Given the description of an element on the screen output the (x, y) to click on. 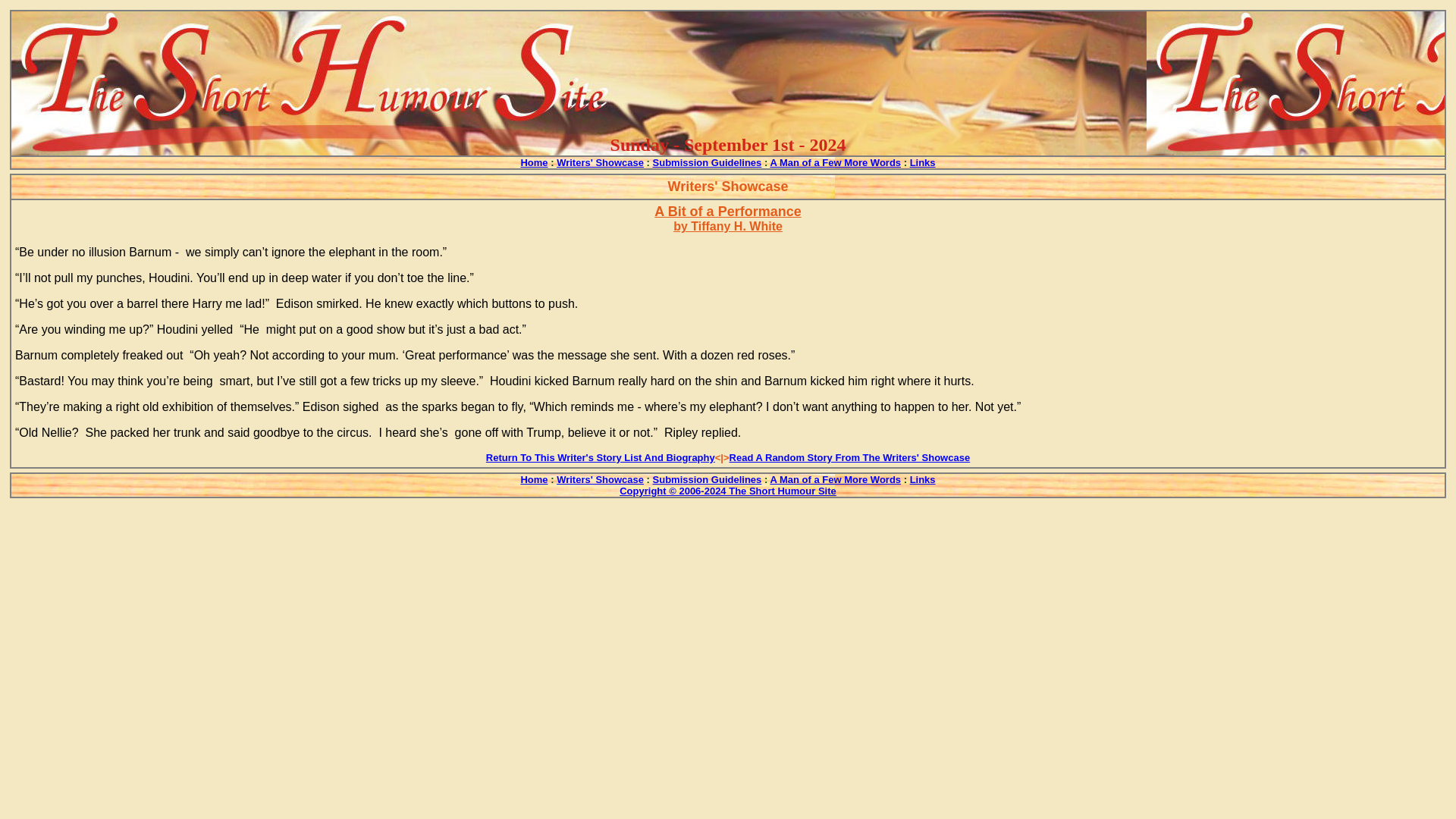
Writers' Showcase (599, 478)
Submission Guidelines (706, 161)
Read A Random Story From The Writers' Showcase (850, 456)
Home (533, 478)
A Man of a Few More Words (835, 161)
Submission Guidelines (706, 478)
Writers' Showcase (599, 161)
Links (923, 161)
Return To This Writer's Story List And Biography (600, 456)
Home (533, 161)
